Given the description of an element on the screen output the (x, y) to click on. 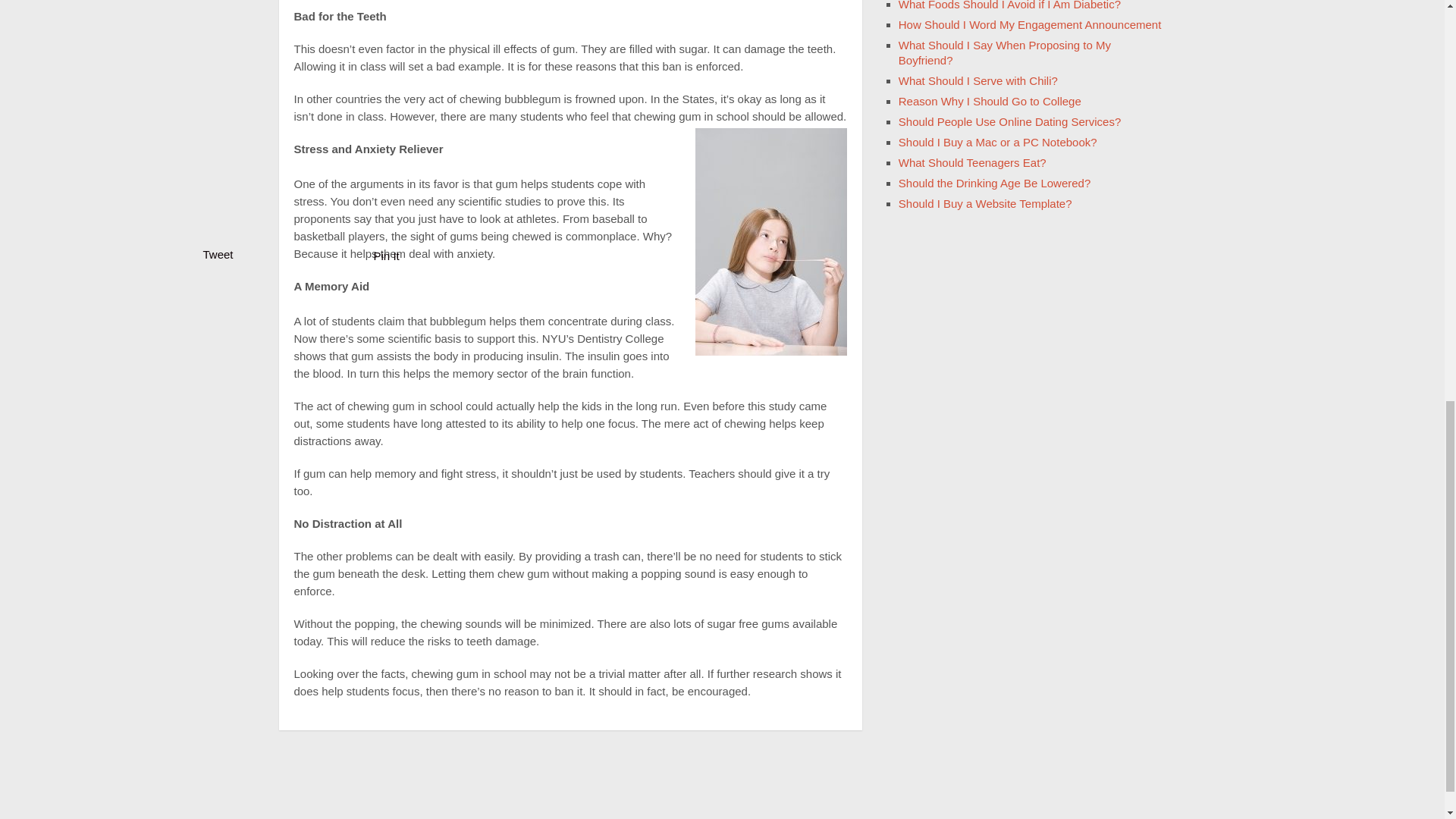
What Should I Serve with Chili? (978, 80)
What Should Teenagers Eat? (972, 162)
Should I Buy a Website Template? (984, 203)
What Foods Should I Avoid if I Am Diabetic? (1009, 5)
Reason Why I Should Go to College (989, 101)
Should the Drinking Age Be Lowered? (994, 182)
What Should I Say When Proposing to My Boyfriend? (1004, 52)
Should I Buy a Mac or a PC Notebook? (997, 141)
Should People Use Online Dating Services? (1009, 121)
How Should I Word My Engagement Announcement (1029, 24)
